Given the description of an element on the screen output the (x, y) to click on. 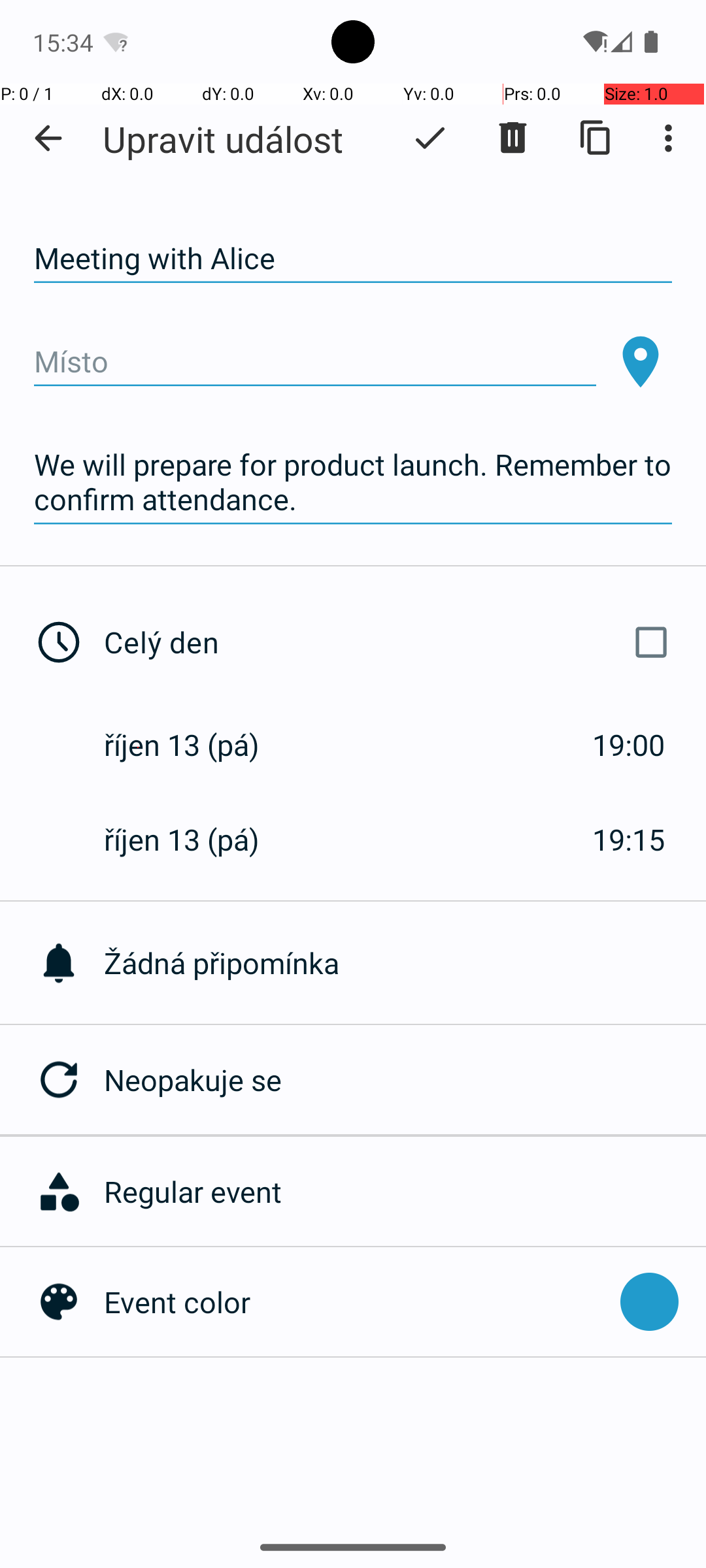
Upravit událost Element type: android.widget.TextView (222, 138)
Uložit Element type: android.widget.Button (429, 137)
Smazat Element type: android.widget.Button (512, 137)
Zkopírovat událost Element type: android.widget.Button (595, 137)
Další možnosti Element type: android.widget.ImageView (671, 137)
Místo Element type: android.widget.EditText (314, 361)
We will prepare for product launch. Remember to confirm attendance. Element type: android.widget.EditText (352, 482)
říjen 13 (pá) Element type: android.widget.TextView (194, 744)
19:15 Element type: android.widget.TextView (628, 838)
Žádná připomínka Element type: android.widget.TextView (404, 962)
Neopakuje se Element type: android.widget.TextView (404, 1079)
Celý den Element type: android.widget.CheckBox (390, 642)
